Given the description of an element on the screen output the (x, y) to click on. 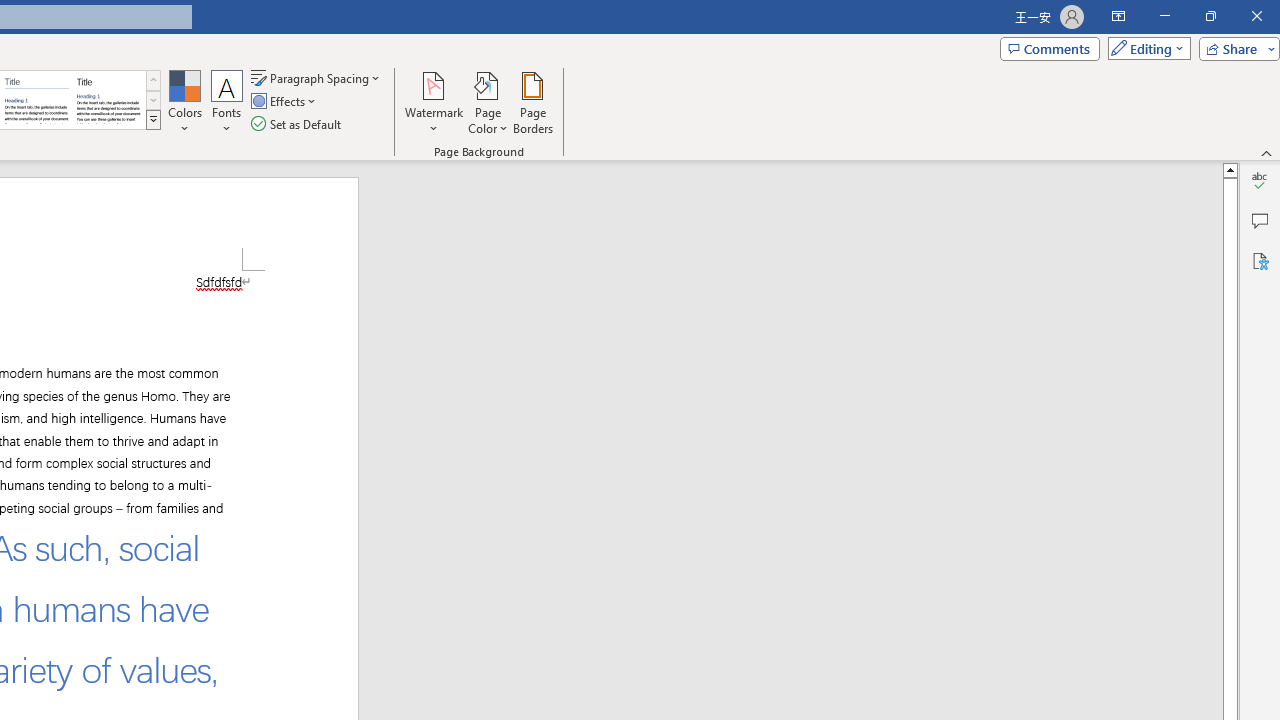
Accessibility (1260, 260)
Page Borders... (532, 102)
Set as Default (298, 124)
Fonts (227, 102)
Effects (285, 101)
Colors (184, 102)
Watermark (434, 102)
